Given the description of an element on the screen output the (x, y) to click on. 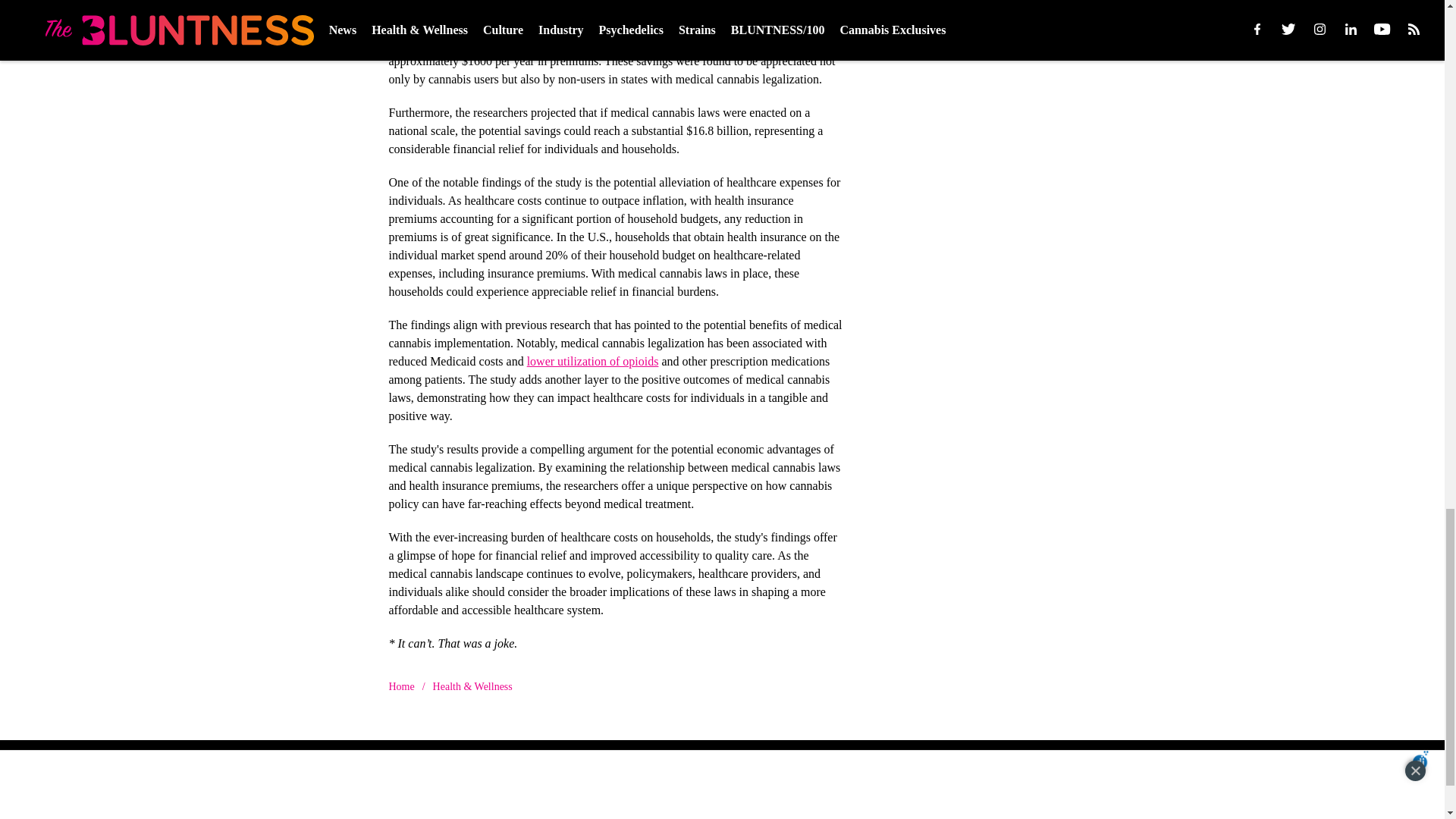
Newsletter (885, 801)
Home (400, 685)
lower utilization of opioids (593, 359)
About (416, 801)
Privacy Policy (1006, 801)
Advertise With Us (748, 801)
Contact Us (574, 801)
